Given the description of an element on the screen output the (x, y) to click on. 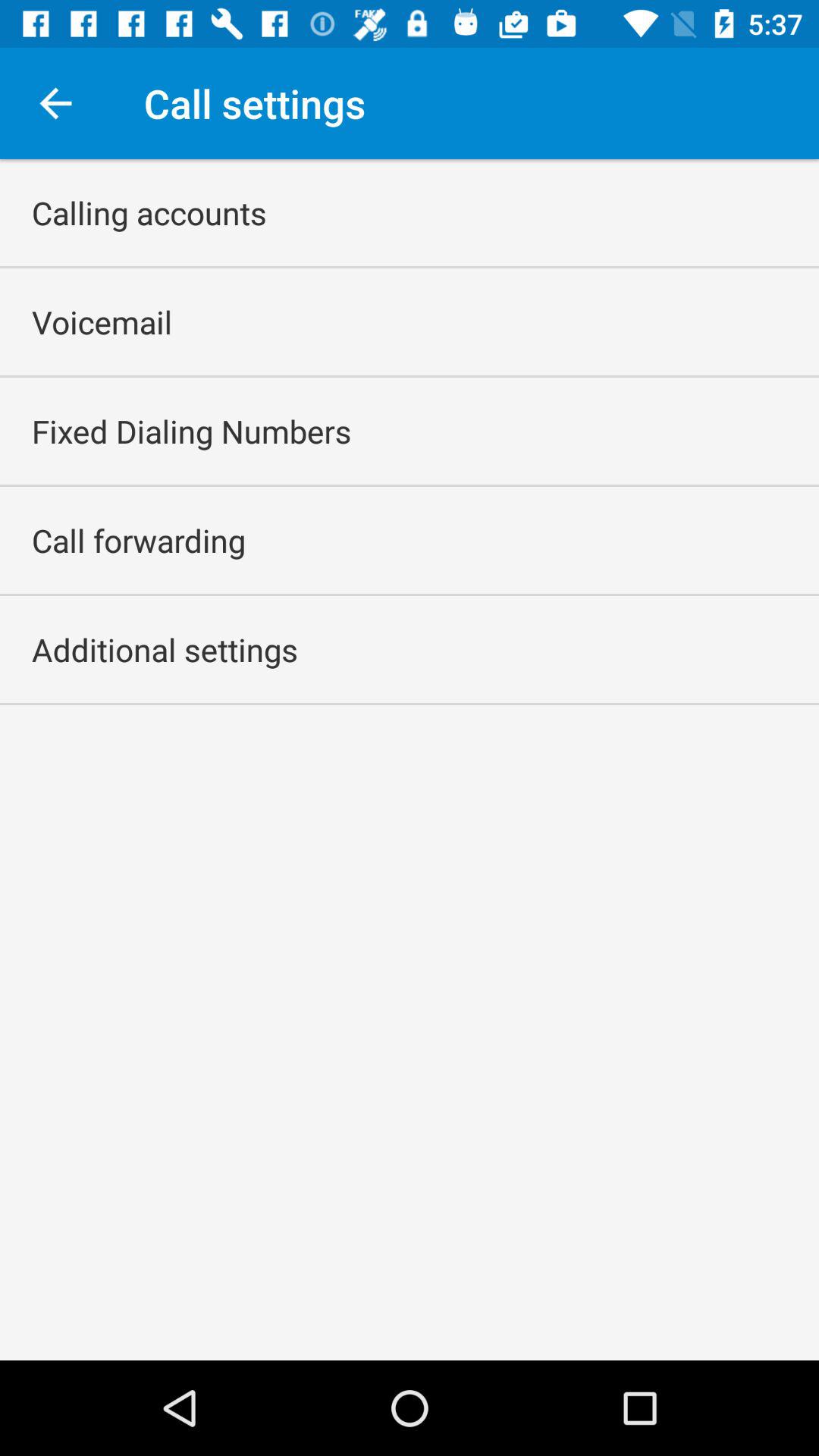
choose app above calling accounts app (55, 103)
